Given the description of an element on the screen output the (x, y) to click on. 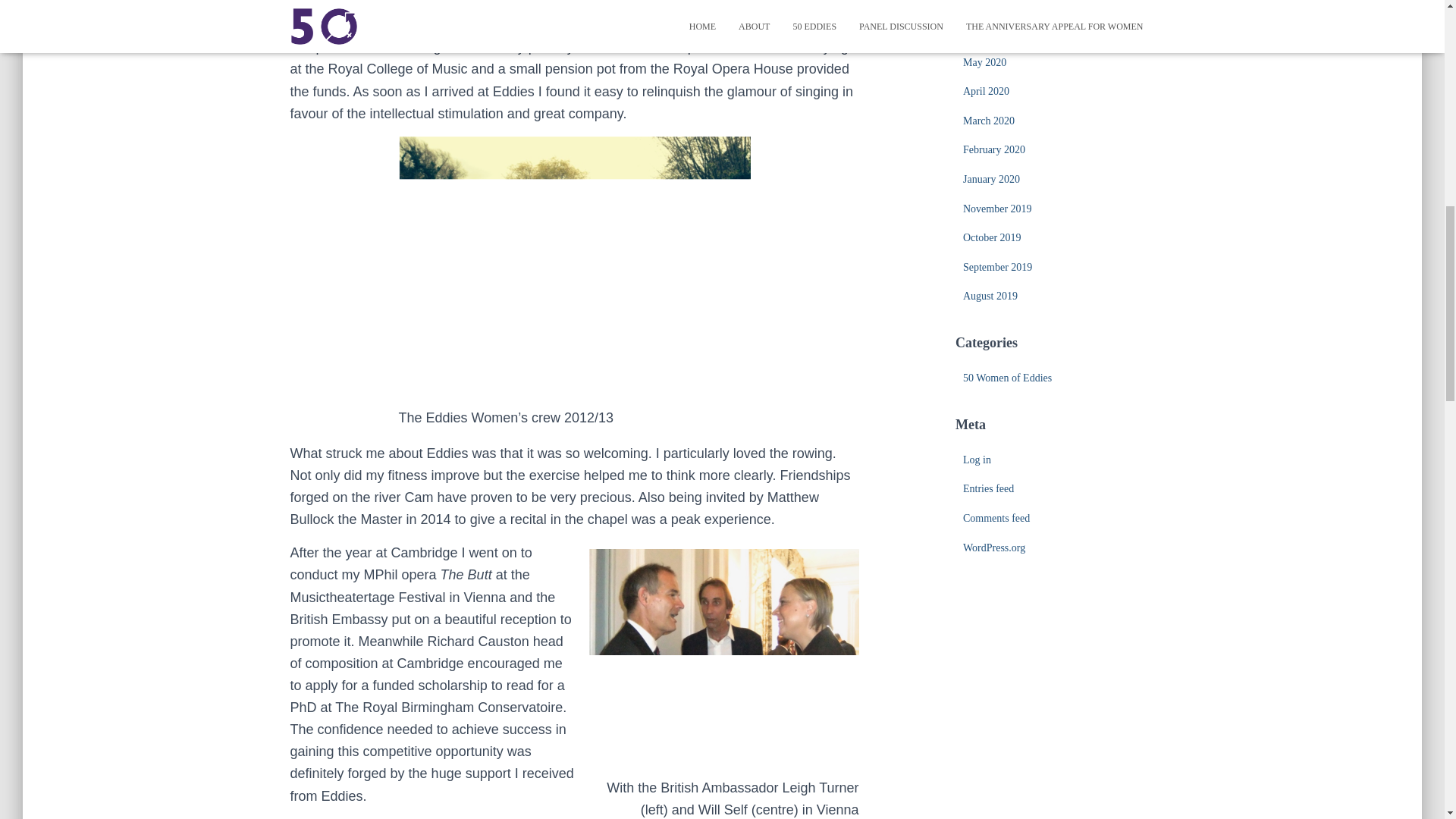
September 2019 (997, 266)
November 2019 (997, 208)
August 2019 (989, 296)
March 2020 (988, 120)
June 2020 (984, 32)
July 2020 (983, 4)
February 2020 (993, 149)
May 2020 (984, 61)
January 2020 (991, 179)
50 Women of Eddies (1006, 378)
Comments feed (995, 518)
Entries feed (987, 488)
April 2020 (985, 91)
Log in (976, 460)
WordPress.org (993, 547)
